Given the description of an element on the screen output the (x, y) to click on. 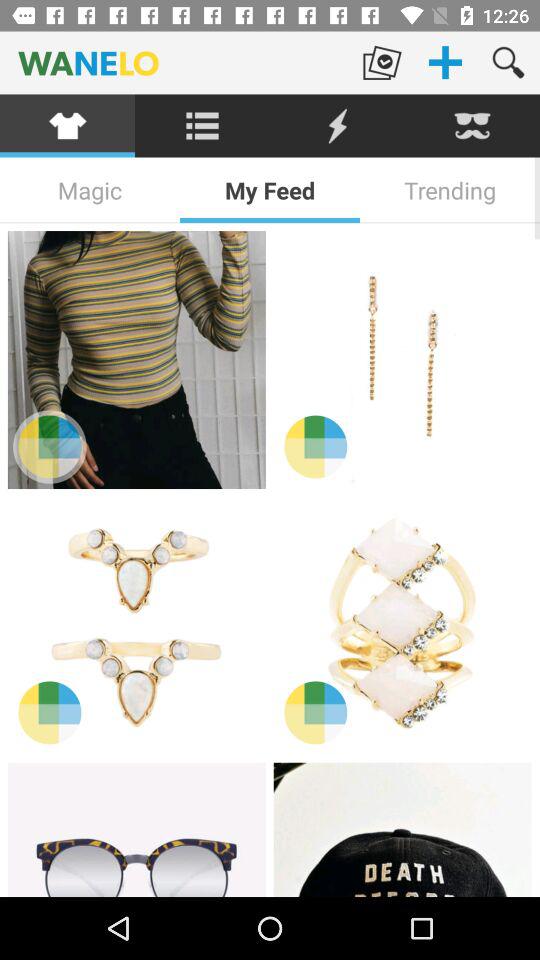
view glasses (136, 829)
